Given the description of an element on the screen output the (x, y) to click on. 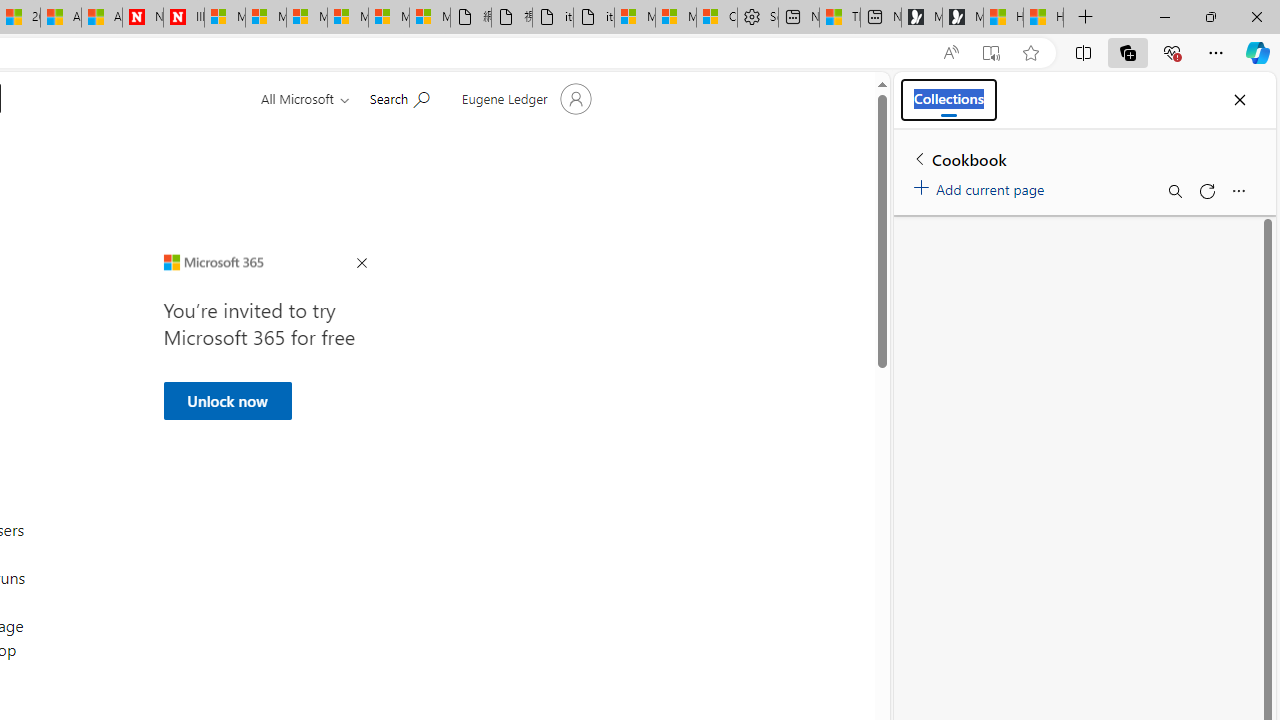
Newsweek - News, Analysis, Politics, Business, Technology (142, 17)
Add current page (982, 186)
Unlock now (226, 399)
Back to list of collections (920, 158)
